Given the description of an element on the screen output the (x, y) to click on. 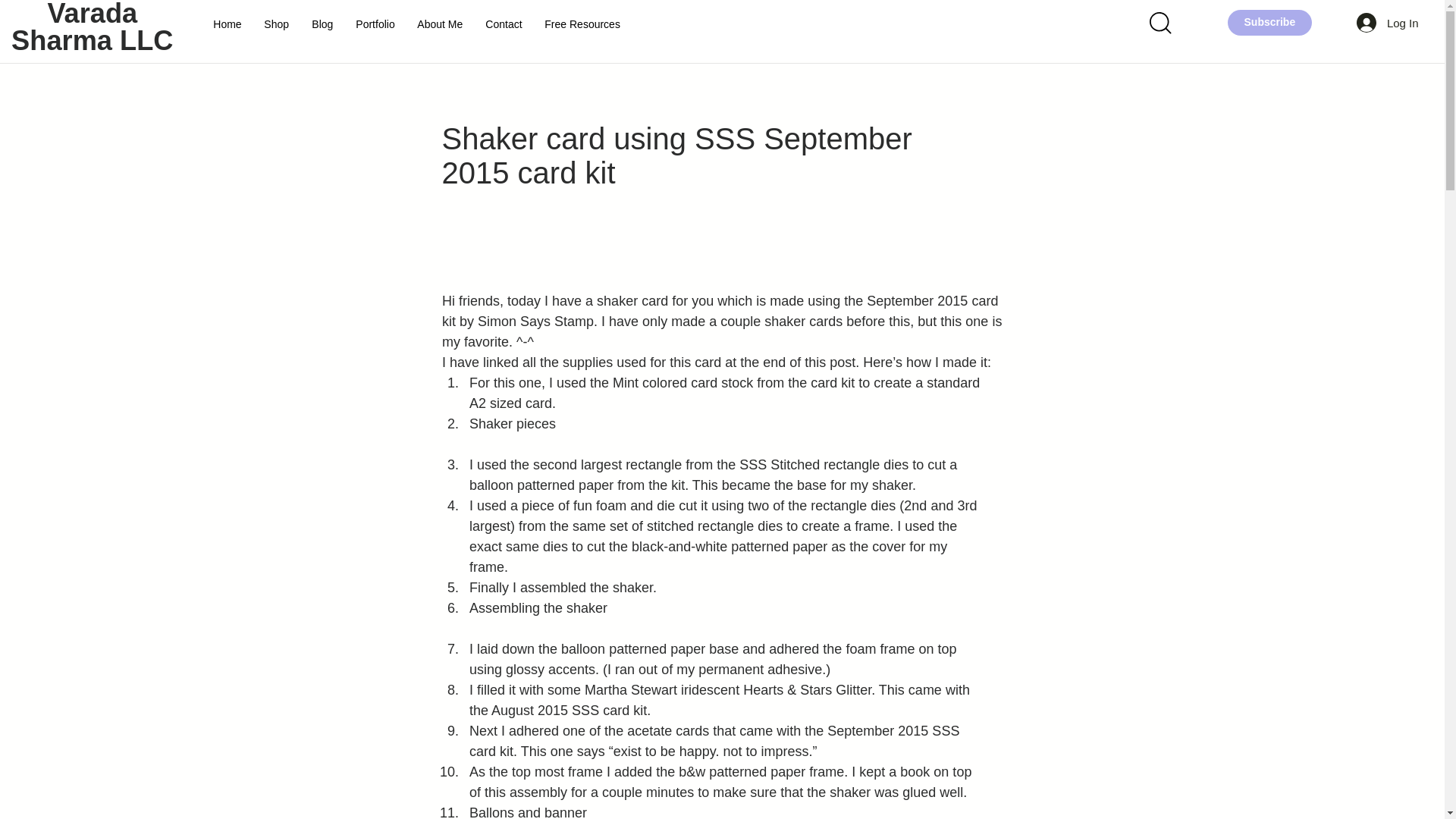
Free Resources (581, 24)
About Me (440, 24)
Shop (275, 24)
Blog (321, 24)
Home (226, 24)
Subscribe (1270, 22)
Portfolio (374, 24)
Log In (1387, 22)
Contact (503, 24)
